Given the description of an element on the screen output the (x, y) to click on. 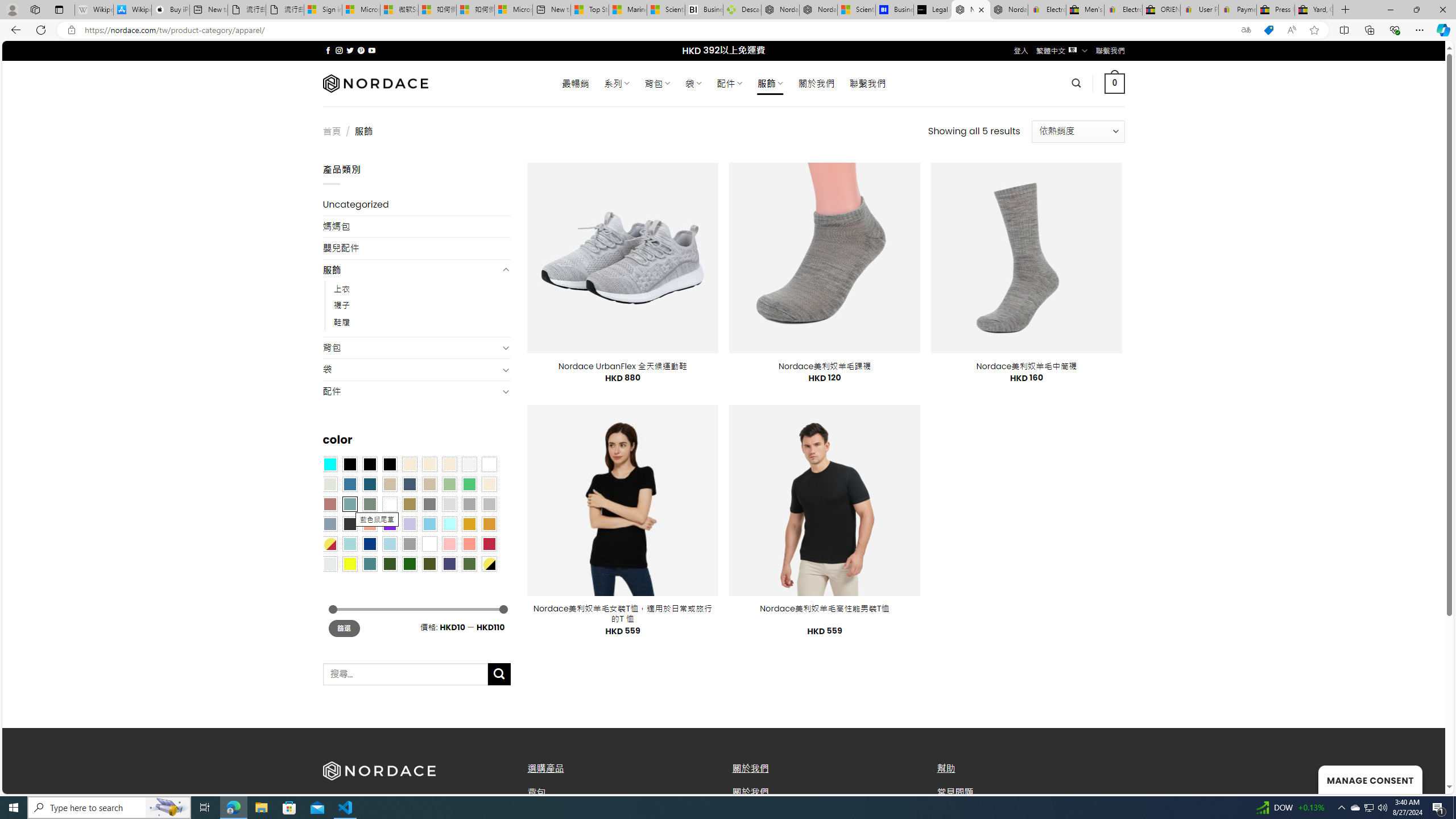
Dull Nickle (329, 563)
